Given the description of an element on the screen output the (x, y) to click on. 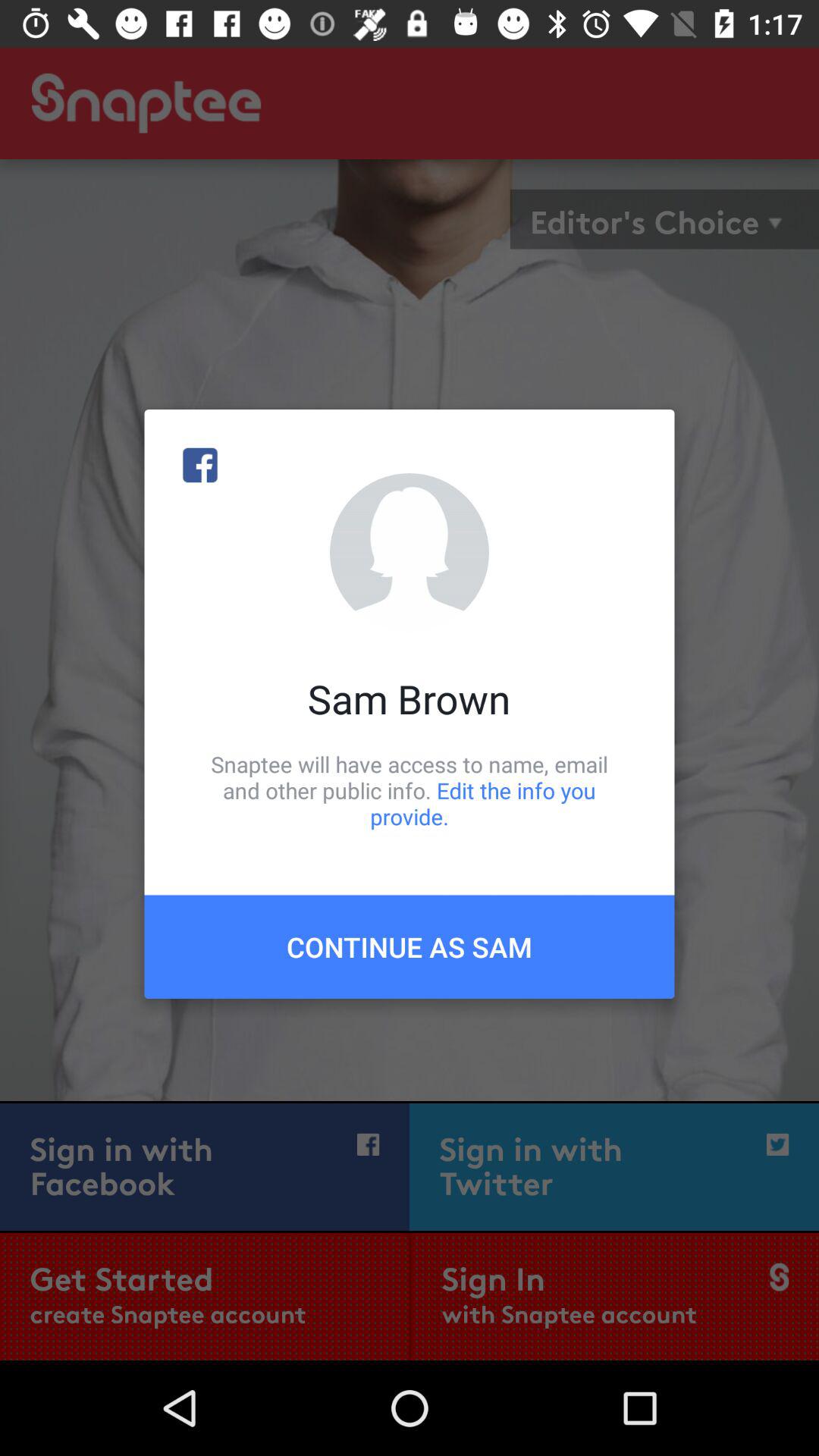
click the continue as sam (409, 946)
